Given the description of an element on the screen output the (x, y) to click on. 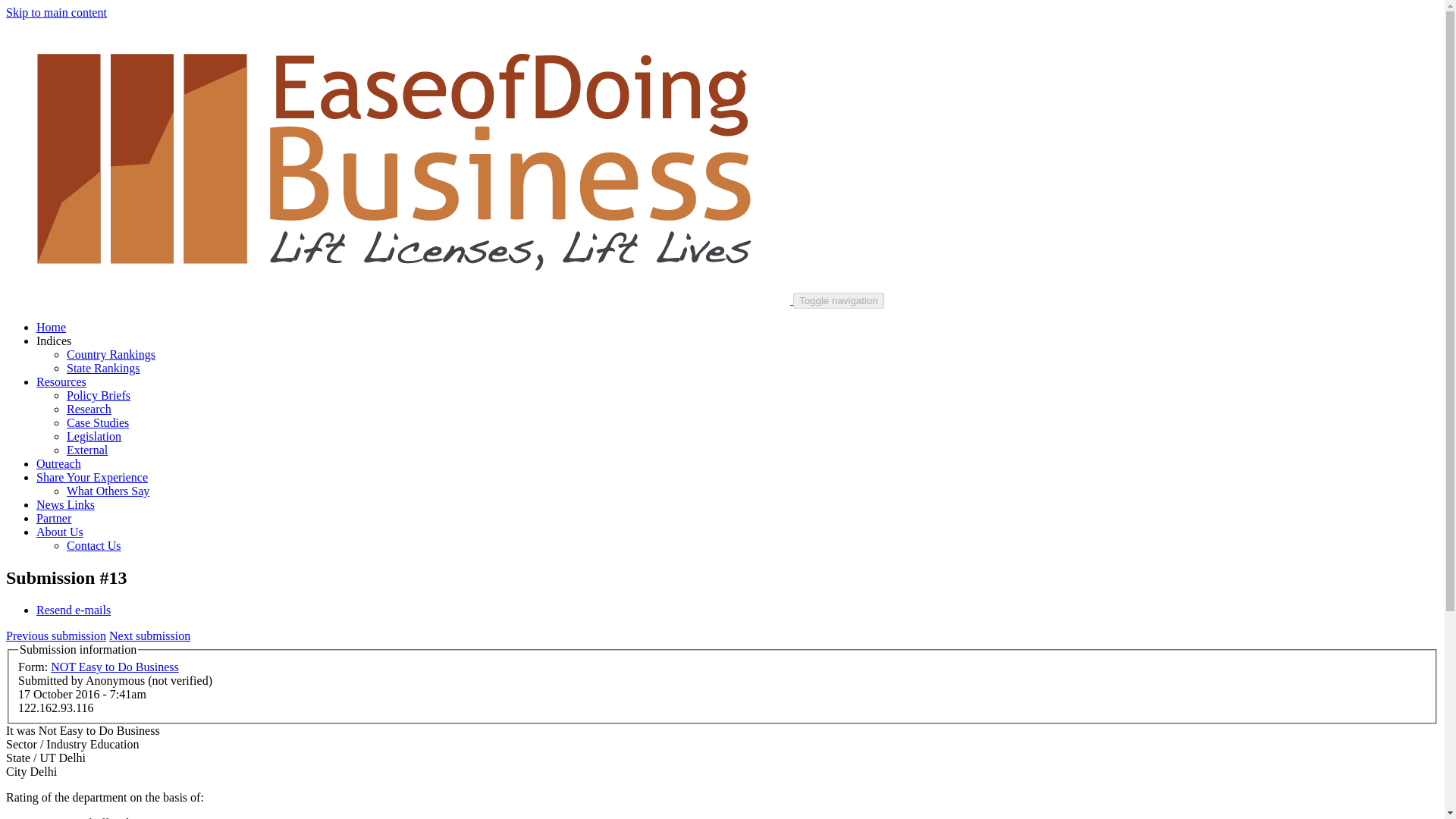
Legislation (93, 436)
Skip to main content (55, 11)
Research (89, 408)
Next submission (149, 635)
Resources (60, 381)
Previous submission (55, 635)
External (86, 449)
Entreprenuer's Story (97, 422)
Resend e-mails (73, 609)
NOT Easy to Do Business (114, 666)
Home (399, 299)
Country Rankings (110, 354)
State Rankings (102, 367)
About Us (59, 531)
Case Studies (97, 422)
